Given the description of an element on the screen output the (x, y) to click on. 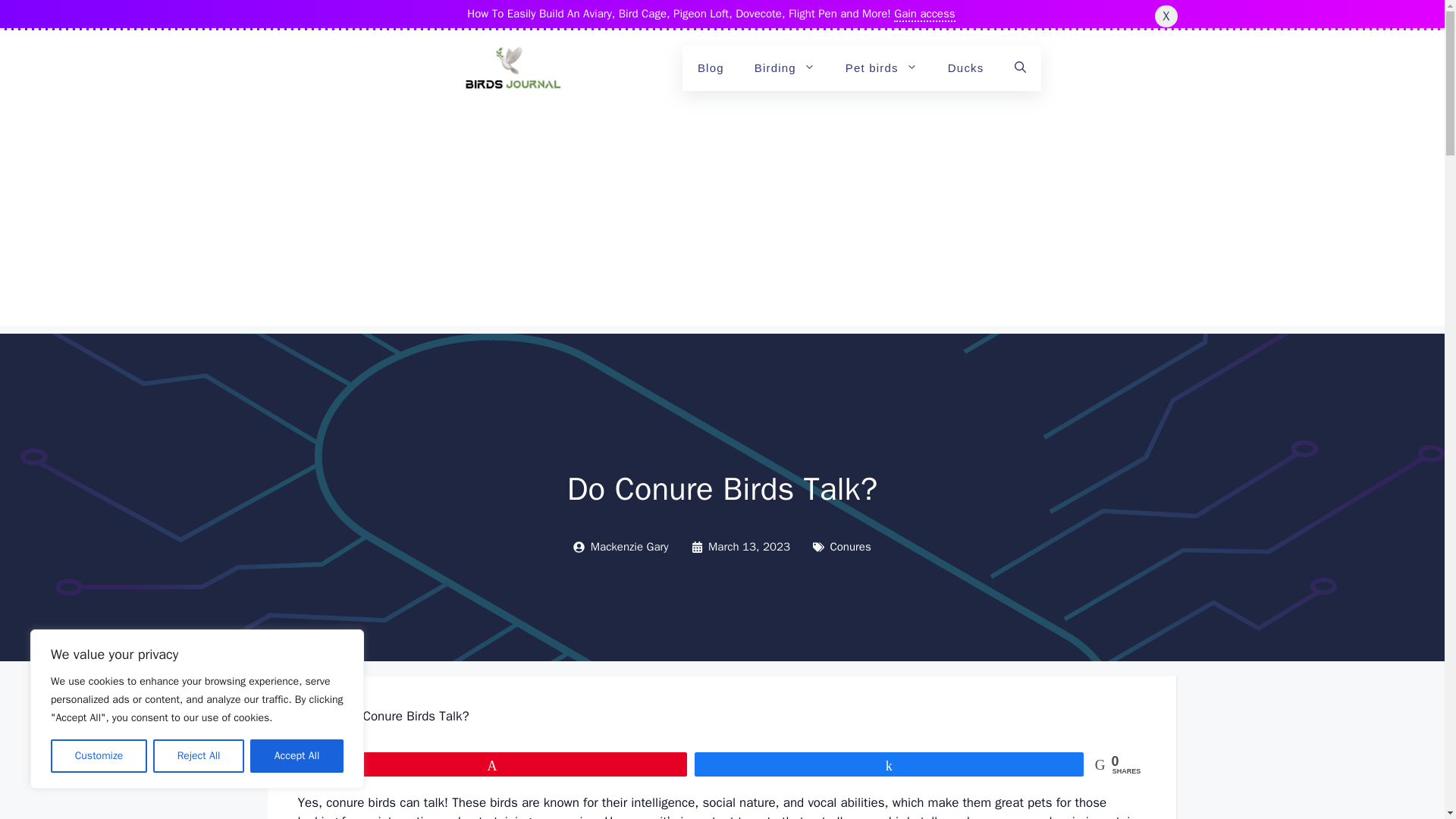
Home (313, 715)
Reject All (198, 756)
Accept All (296, 756)
Conures (849, 546)
Birding (784, 67)
Gain access (924, 14)
X (1165, 15)
Ducks (965, 67)
Blog (710, 67)
Pet birds (881, 67)
Customize (98, 756)
